Given the description of an element on the screen output the (x, y) to click on. 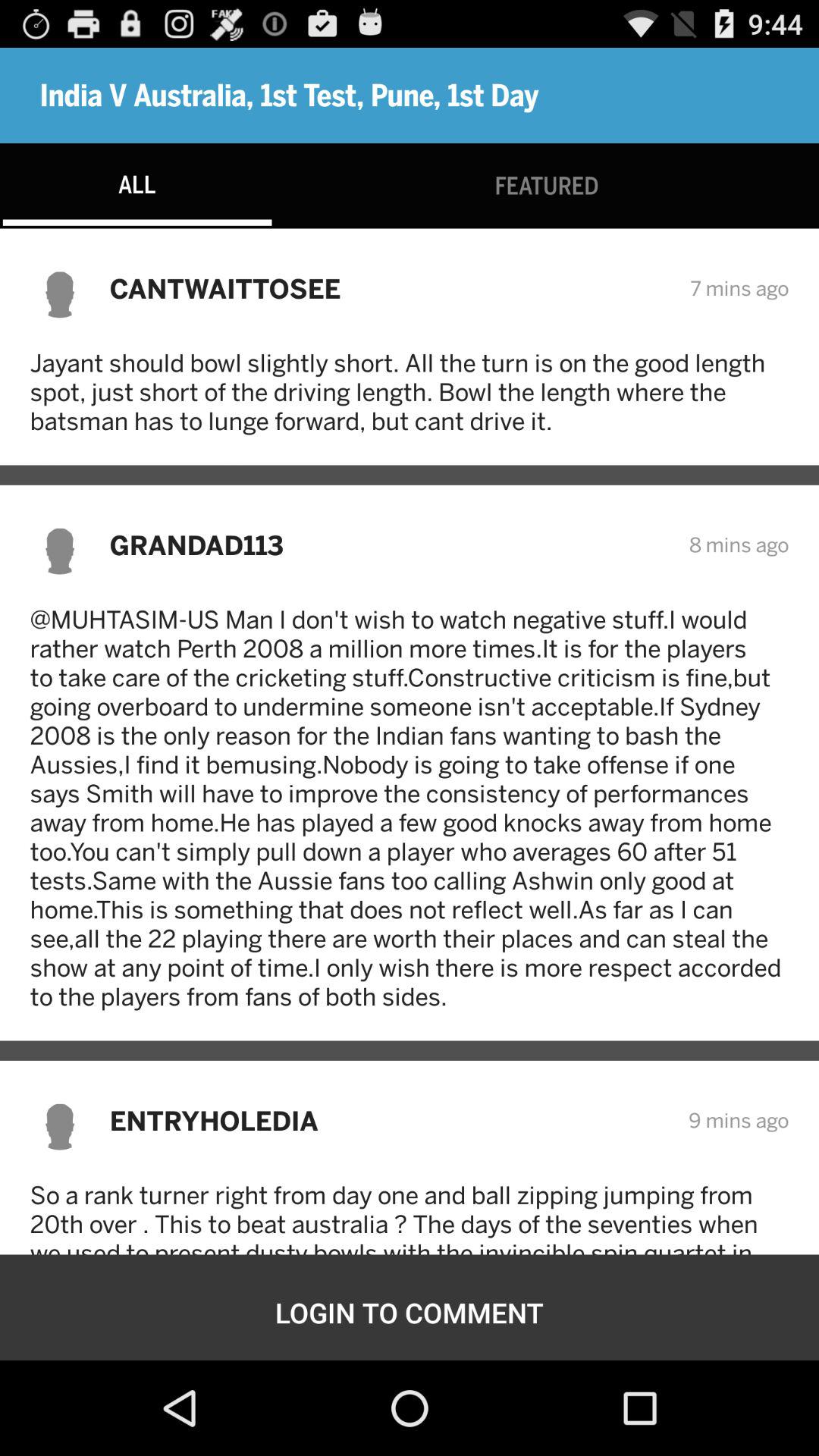
click item below the so a rank icon (409, 1312)
